Given the description of an element on the screen output the (x, y) to click on. 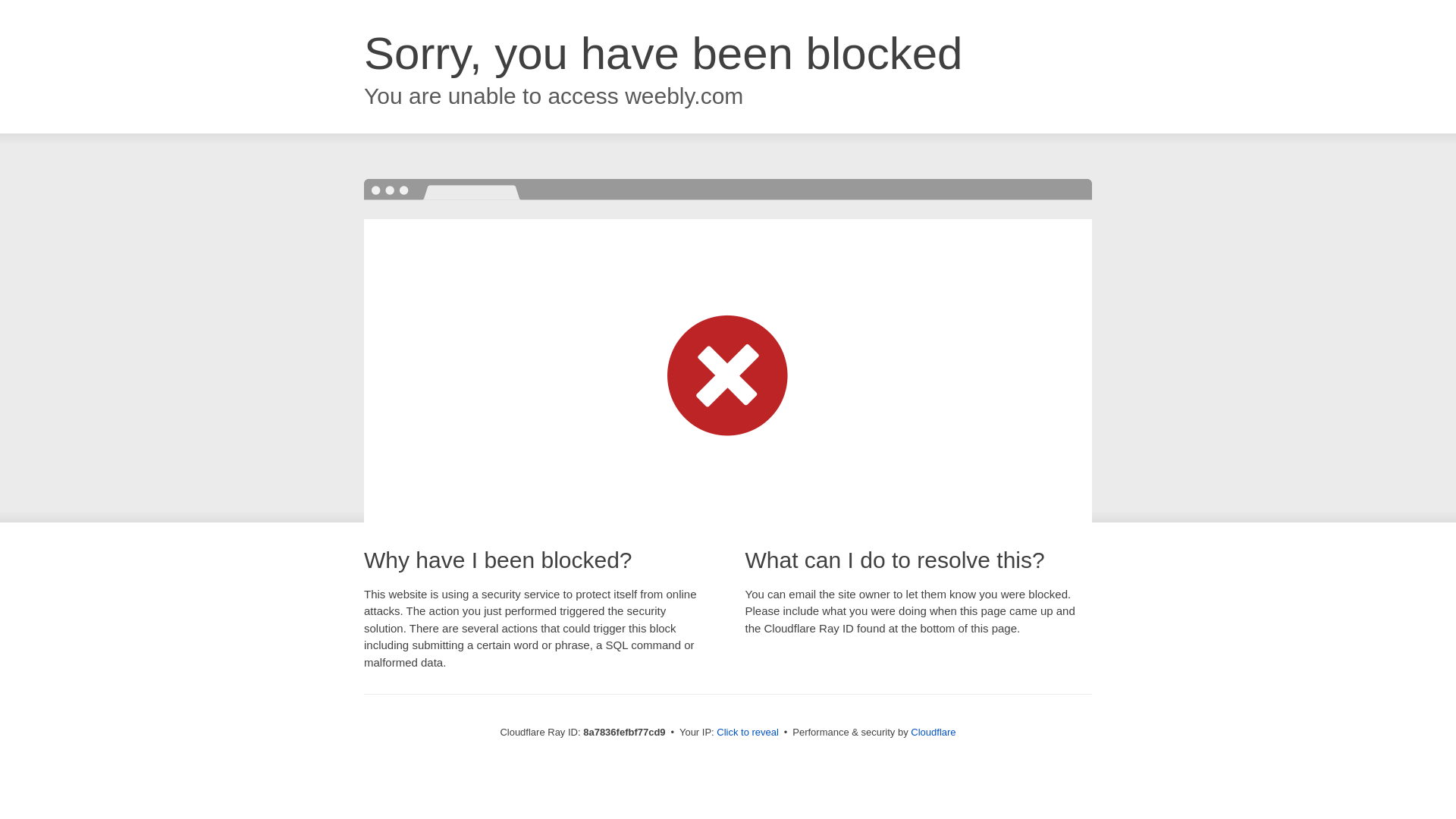
Cloudflare (933, 731)
Click to reveal (747, 732)
